Given the description of an element on the screen output the (x, y) to click on. 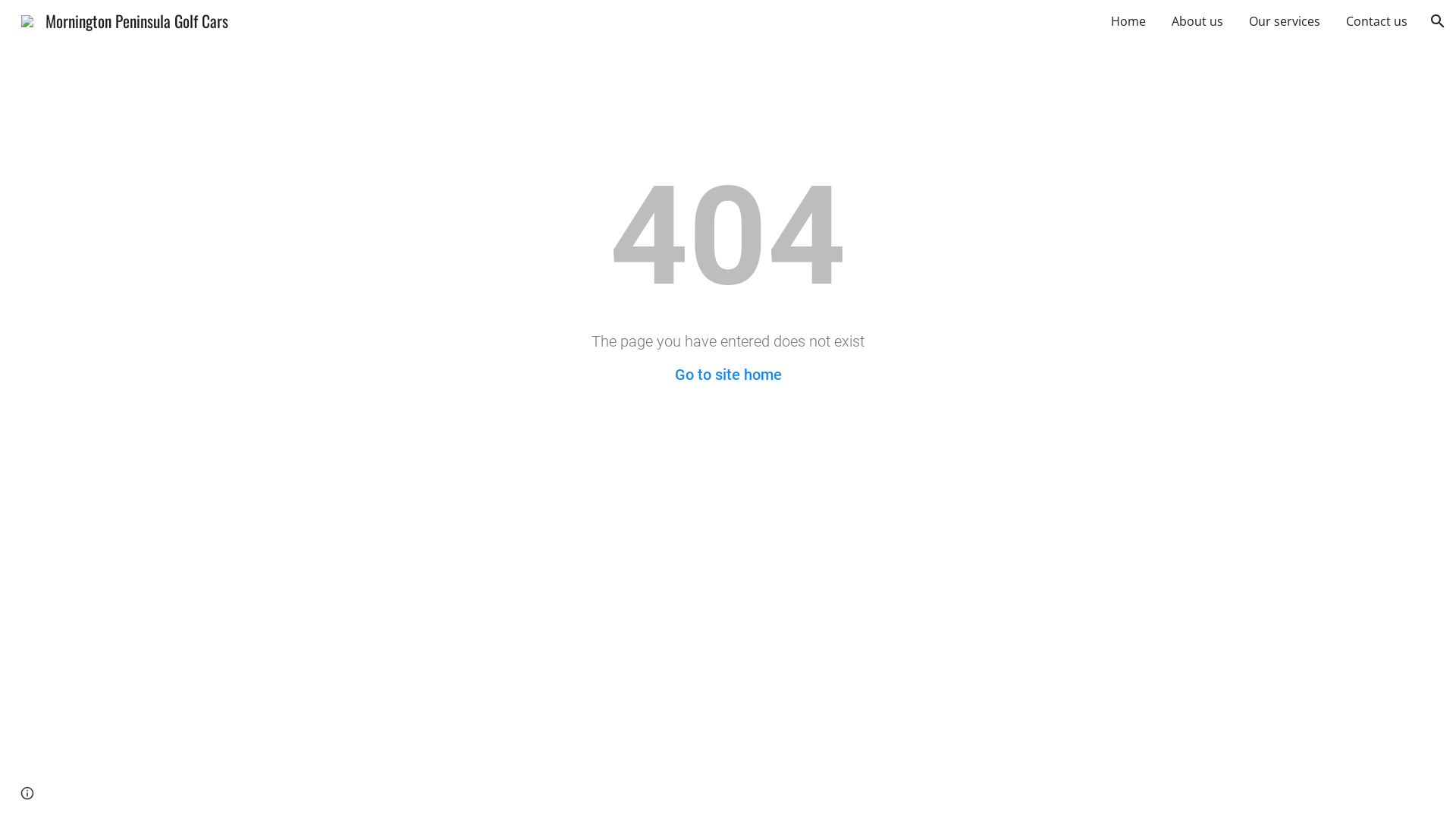
About us Element type: text (1197, 20)
Mornington Peninsula Golf Cars Element type: text (124, 18)
Go to site home Element type: text (727, 374)
Our services Element type: text (1284, 20)
Home Element type: text (1128, 20)
Contact us Element type: text (1376, 20)
